Given the description of an element on the screen output the (x, y) to click on. 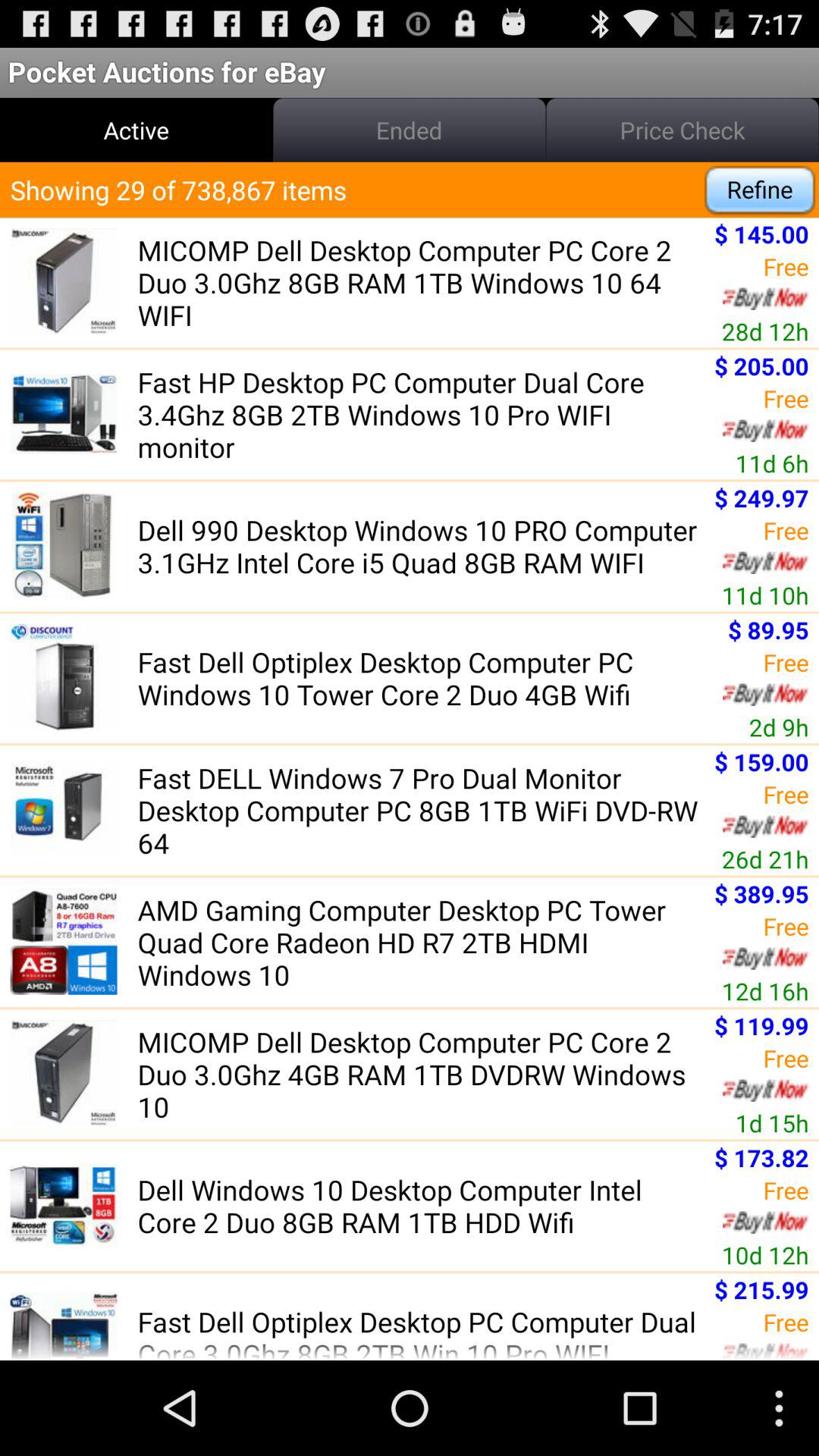
click the 28d 12h icon (764, 331)
